Given the description of an element on the screen output the (x, y) to click on. 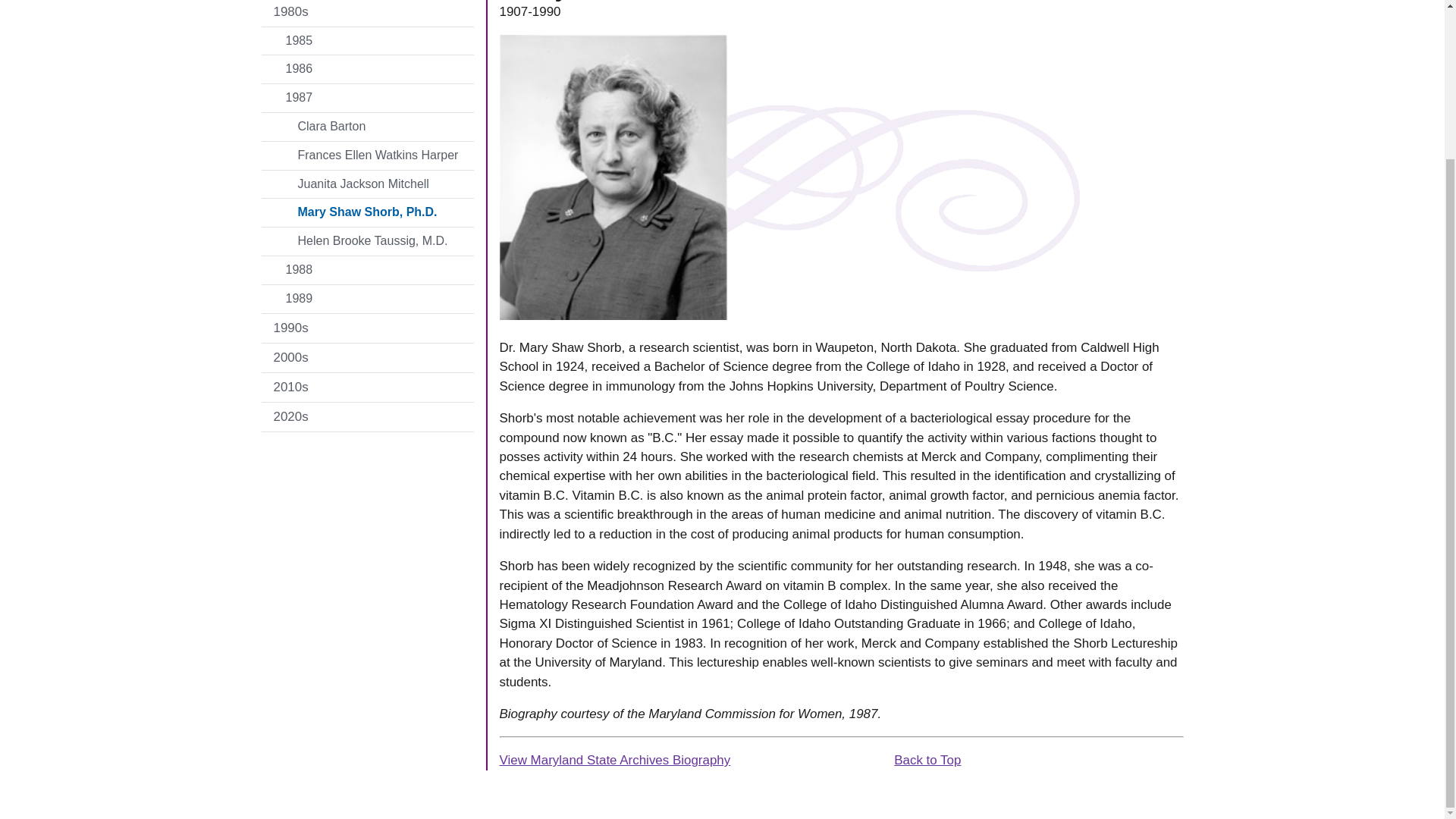
1986 (366, 69)
1990s (366, 328)
View Maryland State Archives Biography (614, 759)
Clara Barton (366, 126)
2010s (366, 387)
1987 (366, 98)
Frances Ellen Watkins Harper (366, 155)
1988 (366, 270)
Back to Top (926, 759)
2020s (366, 416)
1980s (366, 13)
2000s (366, 357)
Juanita Jackson Mitchell (366, 184)
1989 (366, 298)
Helen Brooke Taussig, M.D. (366, 241)
